Given the description of an element on the screen output the (x, y) to click on. 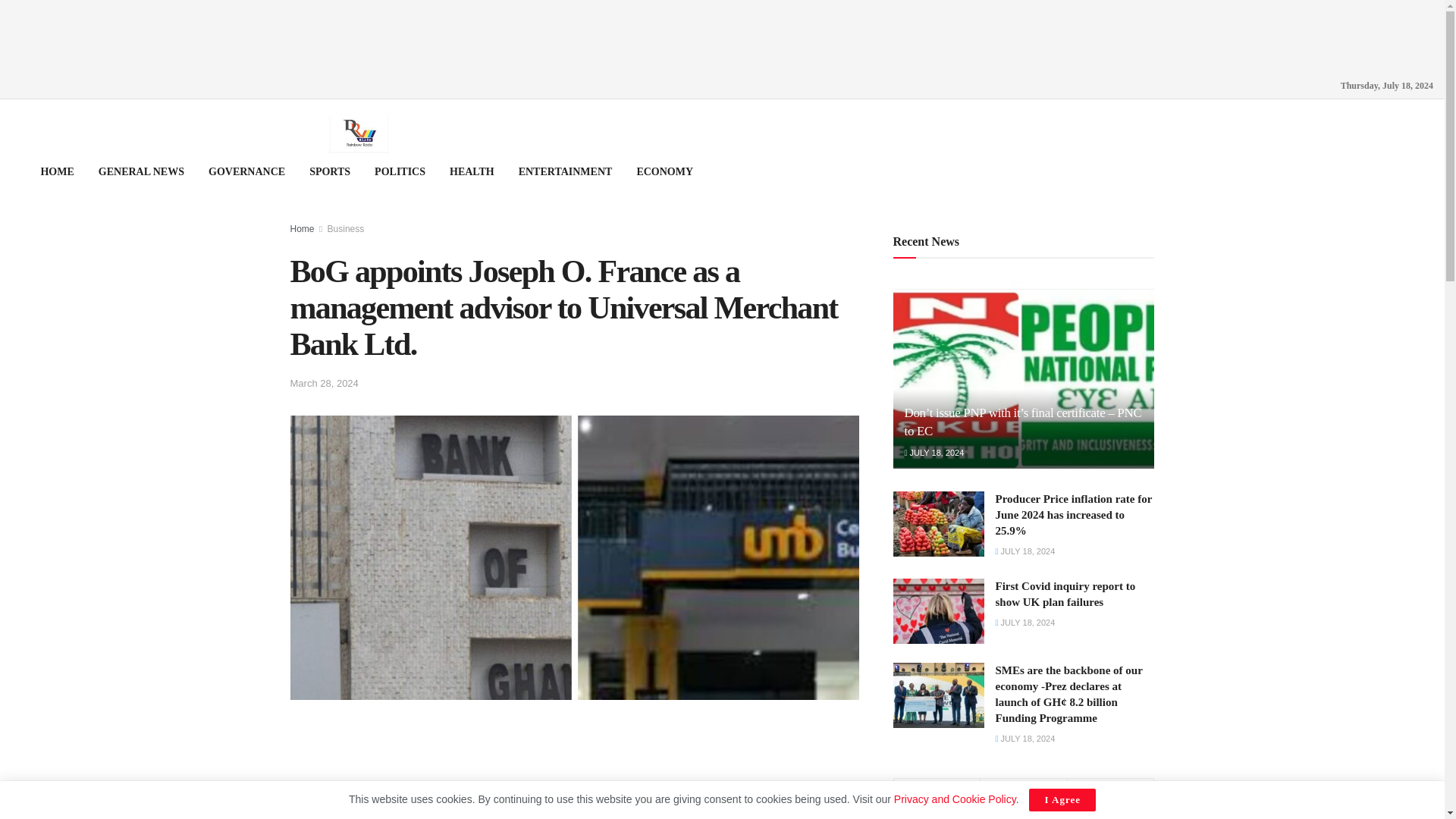
Home (301, 228)
Advertisement (722, 33)
ECONOMY (664, 171)
HEALTH (472, 171)
GENERAL NEWS (140, 171)
Business (346, 228)
SPORTS (329, 171)
POLITICS (400, 171)
HOME (56, 171)
ENTERTAINMENT (565, 171)
March 28, 2024 (323, 383)
GOVERNANCE (246, 171)
Advertisement (574, 756)
